Given the description of an element on the screen output the (x, y) to click on. 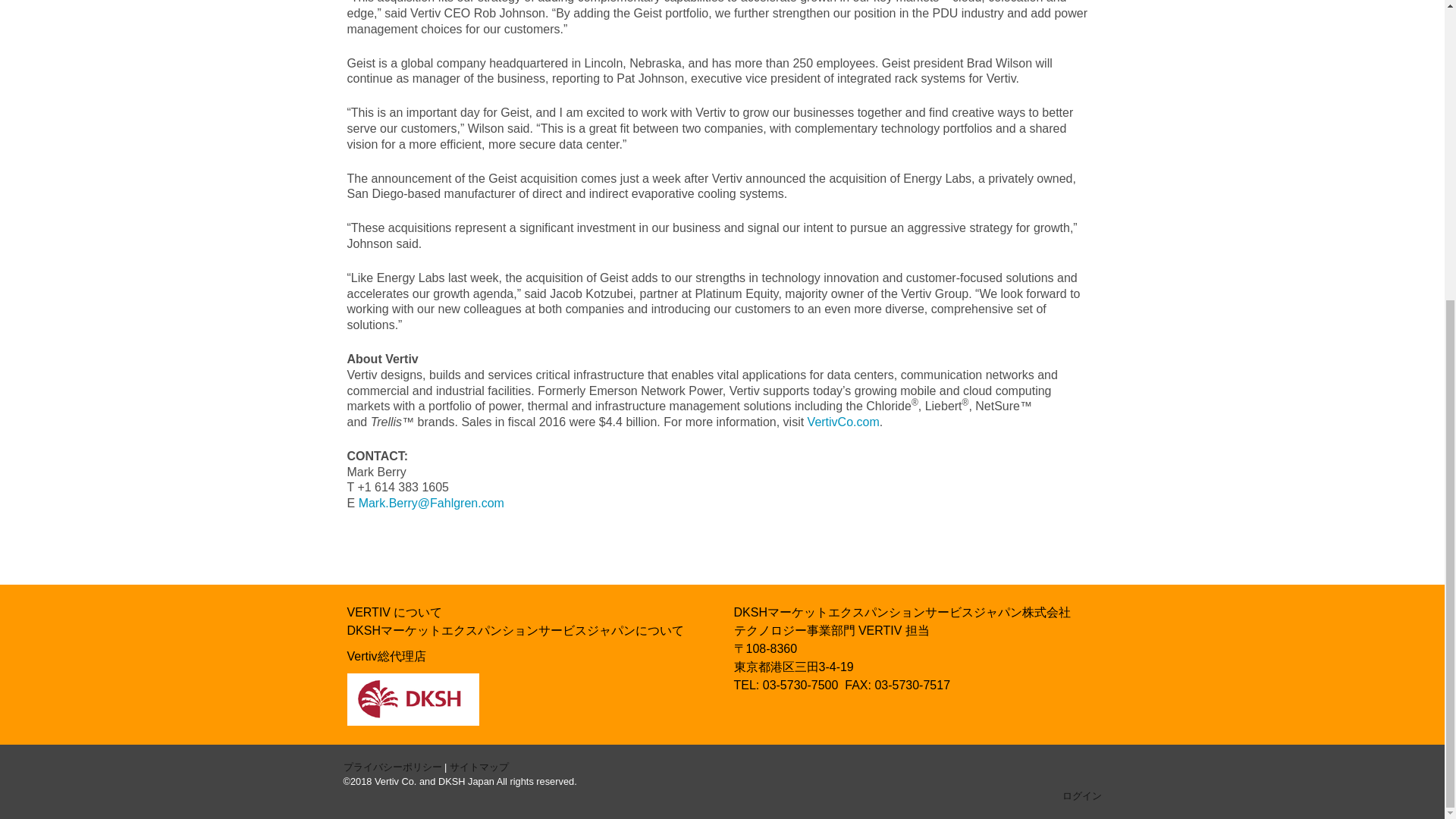
VertivCo.com (843, 421)
